Given the description of an element on the screen output the (x, y) to click on. 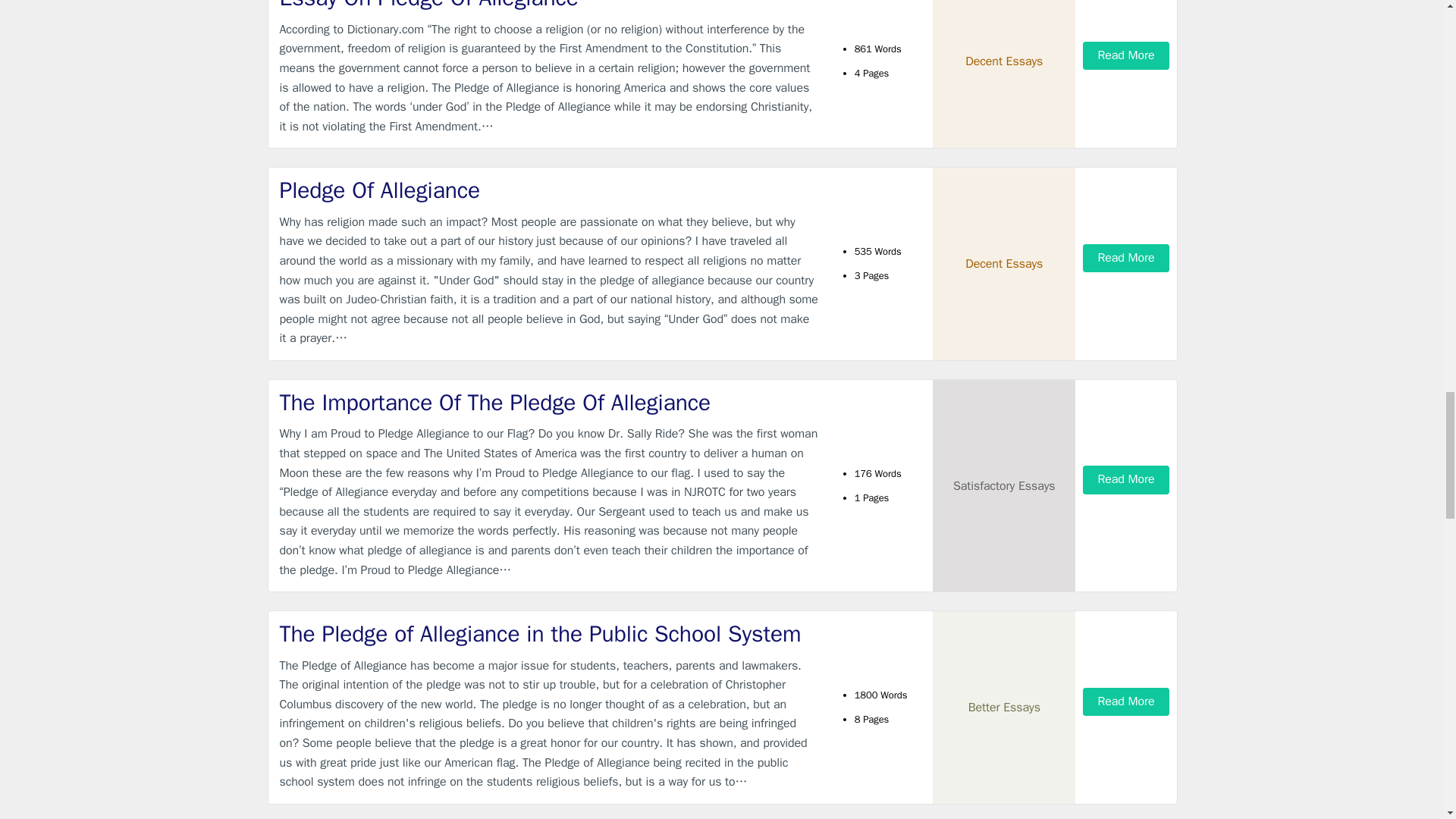
Essay On Pledge Of Allegiance (548, 6)
Pledge Of Allegiance (548, 190)
Read More (1126, 257)
Read More (1126, 55)
